Given the description of an element on the screen output the (x, y) to click on. 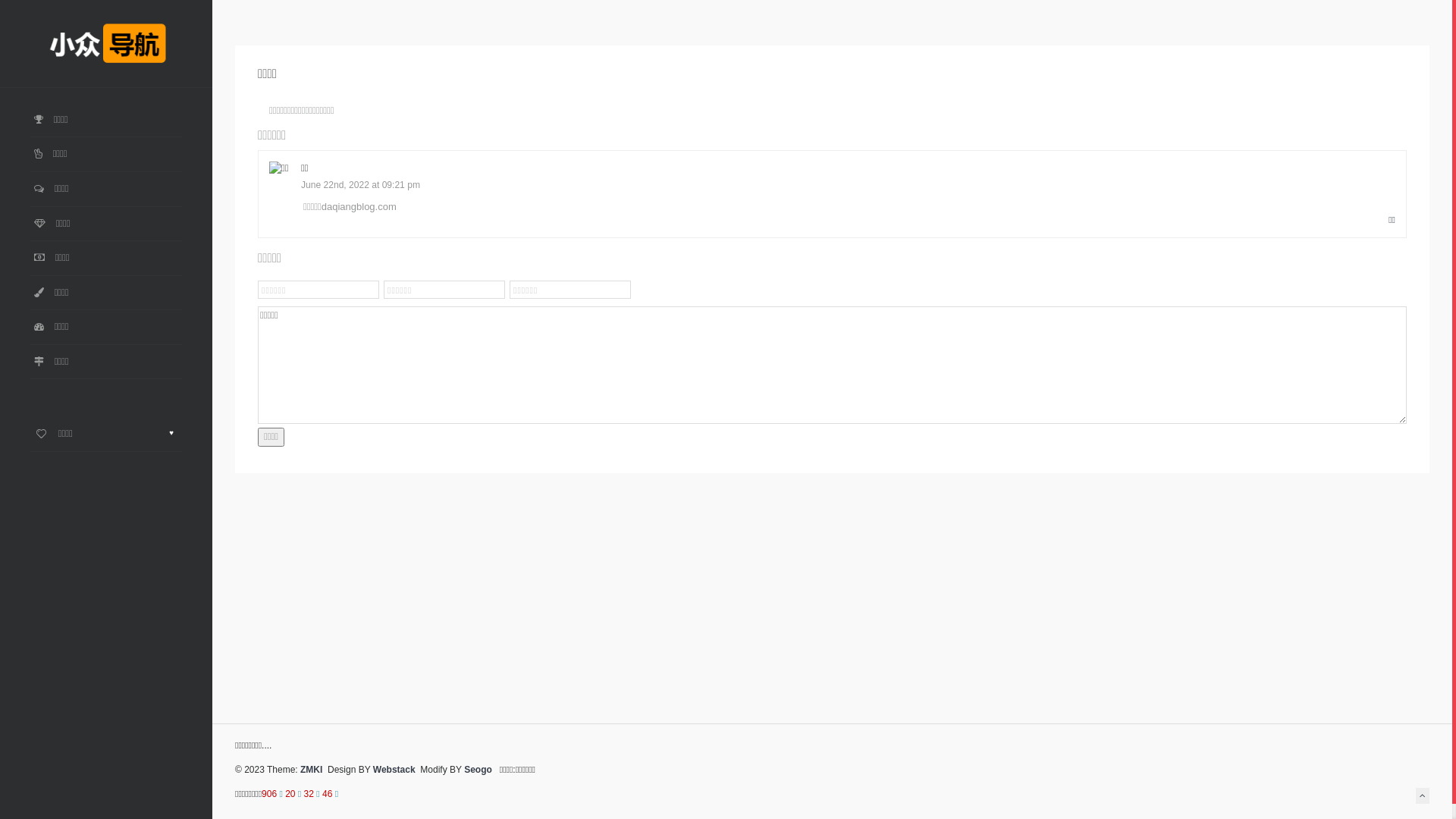
Webstack Element type: text (394, 769)
Seogo Element type: text (478, 769)
June 22nd, 2022 at 09:21 pm Element type: text (360, 184)
ZMKI Element type: text (311, 769)
